Given the description of an element on the screen output the (x, y) to click on. 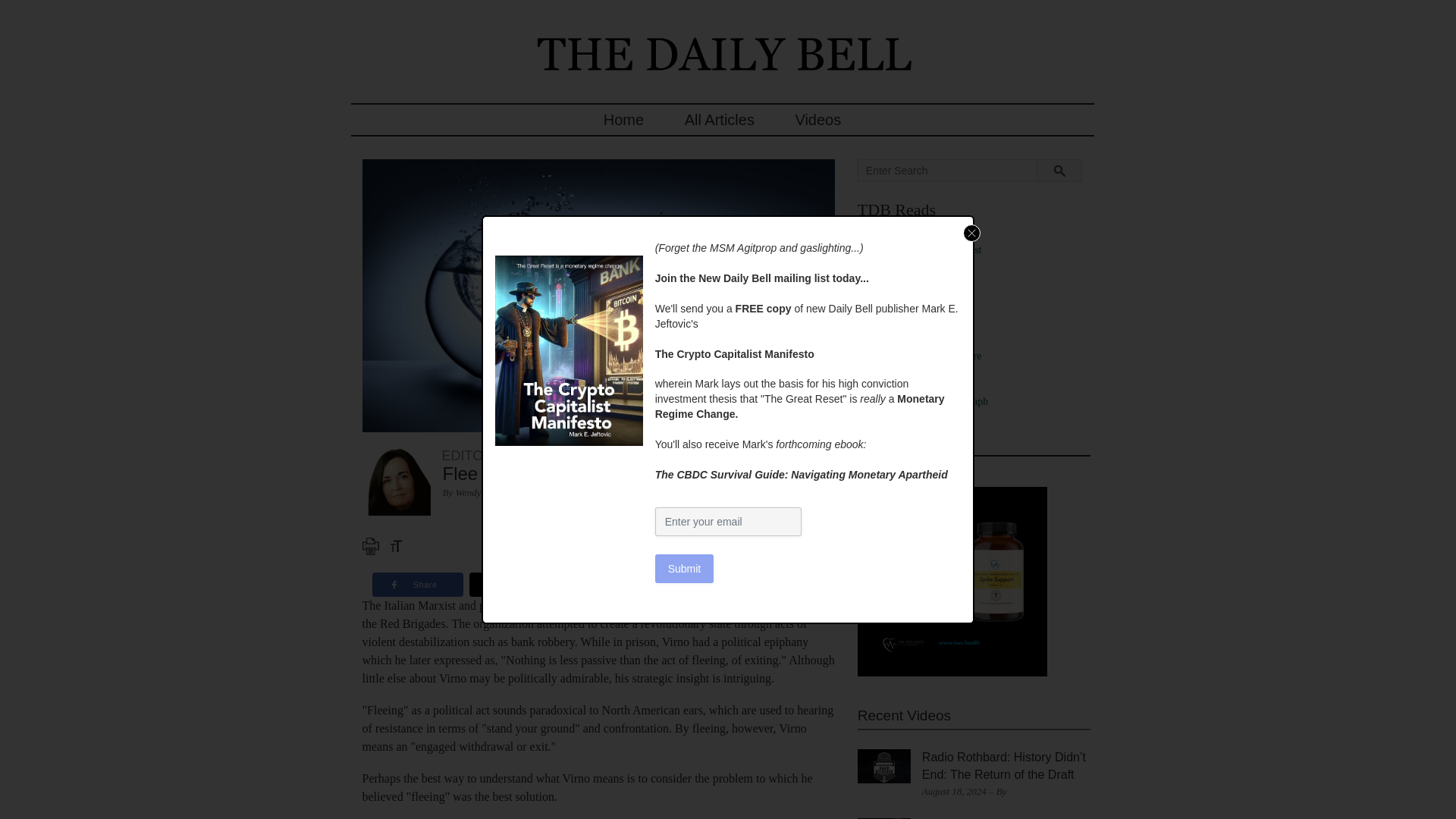
Bitcoin Magazine (925, 265)
Black Listed News (928, 279)
John Rubino (915, 386)
DollarCollapse (920, 325)
Home (623, 119)
Tom Woods (913, 416)
Videos (818, 119)
Hard Facts (911, 370)
Canadian Bitcoiners (931, 310)
ZeroHedge (912, 431)
